Given the description of an element on the screen output the (x, y) to click on. 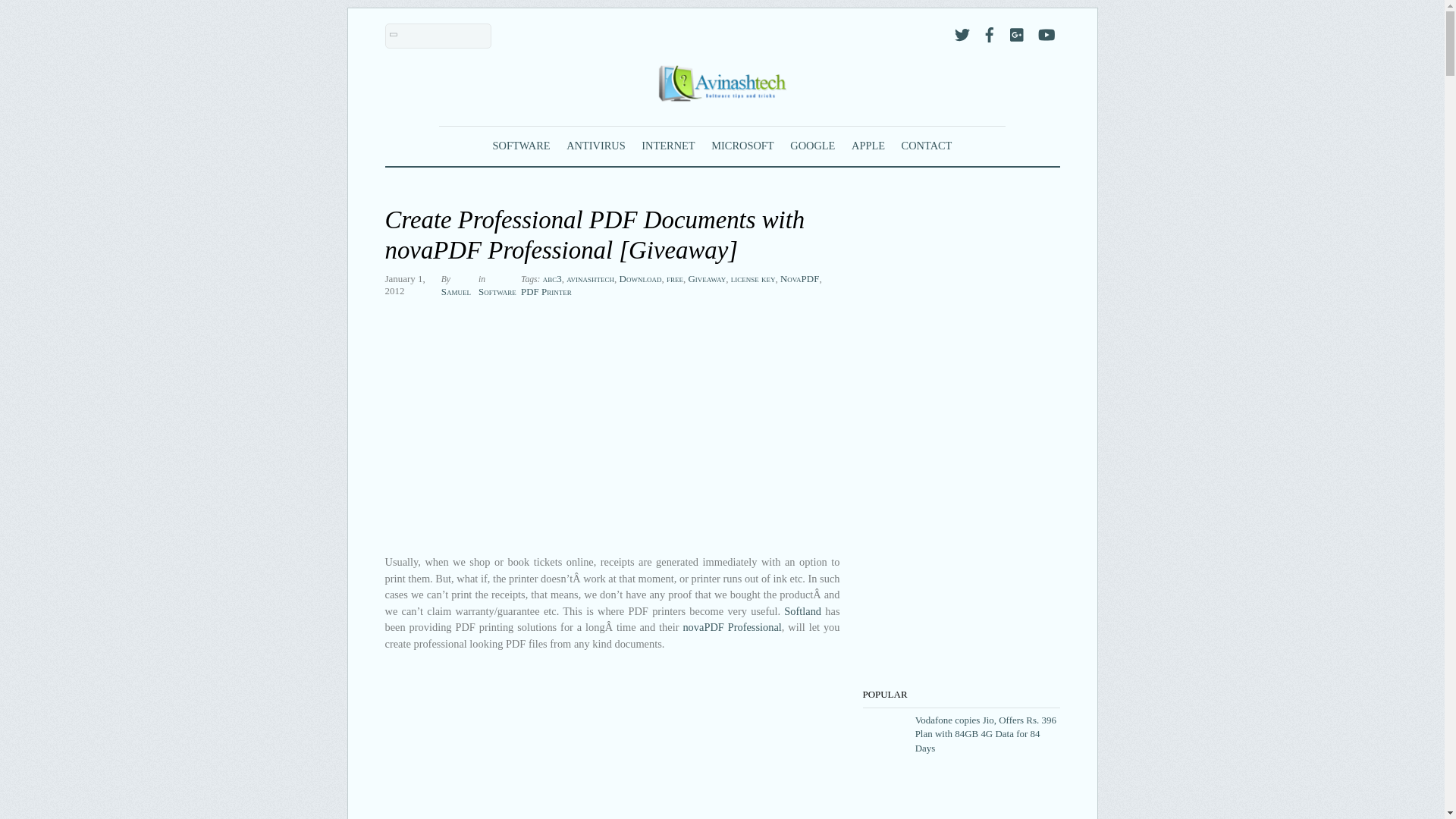
MICROSOFT (742, 145)
Softland (802, 611)
Search (438, 35)
PDF Printer (546, 291)
Samuel (455, 291)
INTERNET (667, 145)
CONTACT (927, 145)
free (674, 278)
ANTIVIRUS (595, 145)
novaPDF Professional (731, 626)
Software (497, 291)
NovaPDF (799, 278)
Giveaway (706, 278)
Download (641, 278)
